Given the description of an element on the screen output the (x, y) to click on. 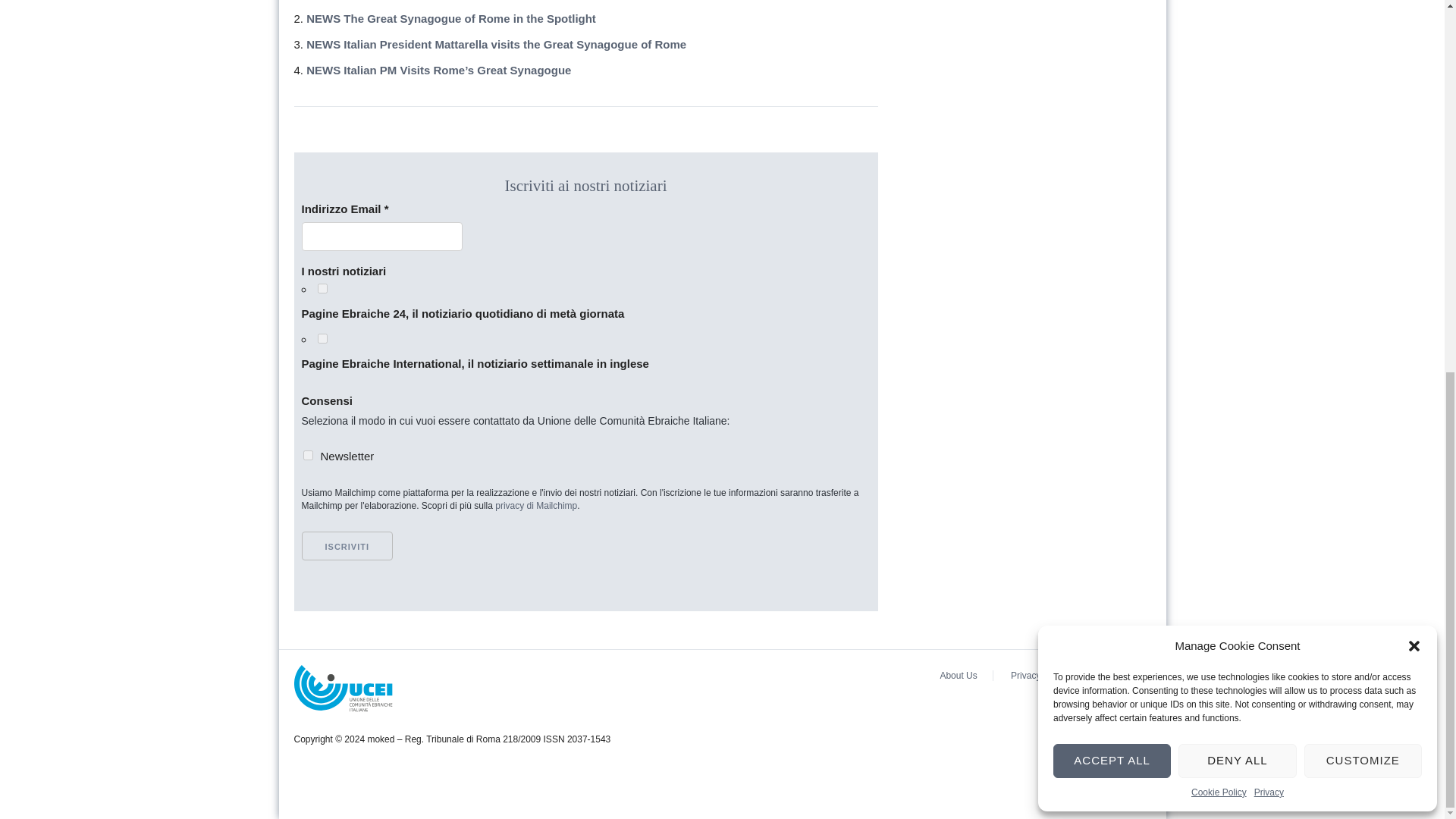
Cookie Policy (1218, 114)
Iscriviti (347, 545)
NEWS The Great Synagogue of Rome in the Spotlight (450, 18)
1 (321, 338)
Iscriviti (347, 545)
DENY ALL (1236, 82)
CUSTOMIZE (1363, 82)
16 (321, 288)
privacy di Mailchimp (535, 505)
ACCEPT ALL (1111, 82)
Y (307, 455)
Privacy (1268, 114)
NEWS The Great Synagogue of Rome in the Spotlight (450, 18)
